Given the description of an element on the screen output the (x, y) to click on. 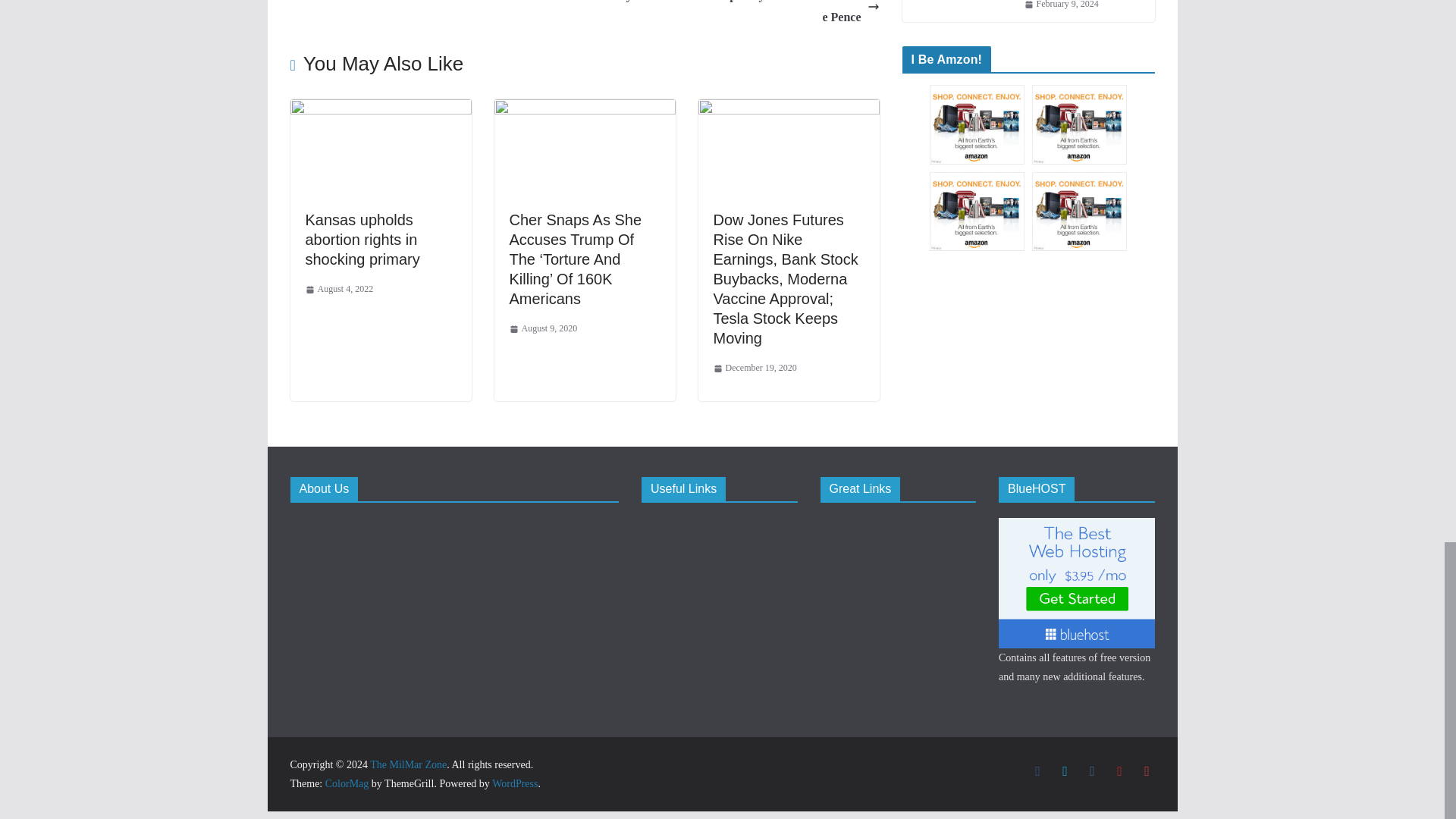
Kansas upholds abortion rights in shocking primary (361, 239)
Jimmy Kimmel Airs Deceptively Cut Video Of Mike Pence (735, 14)
7:26 am (338, 289)
Kansas upholds abortion rights in shocking primary (361, 239)
Kansas upholds abortion rights in shocking primary (379, 109)
